Given the description of an element on the screen output the (x, y) to click on. 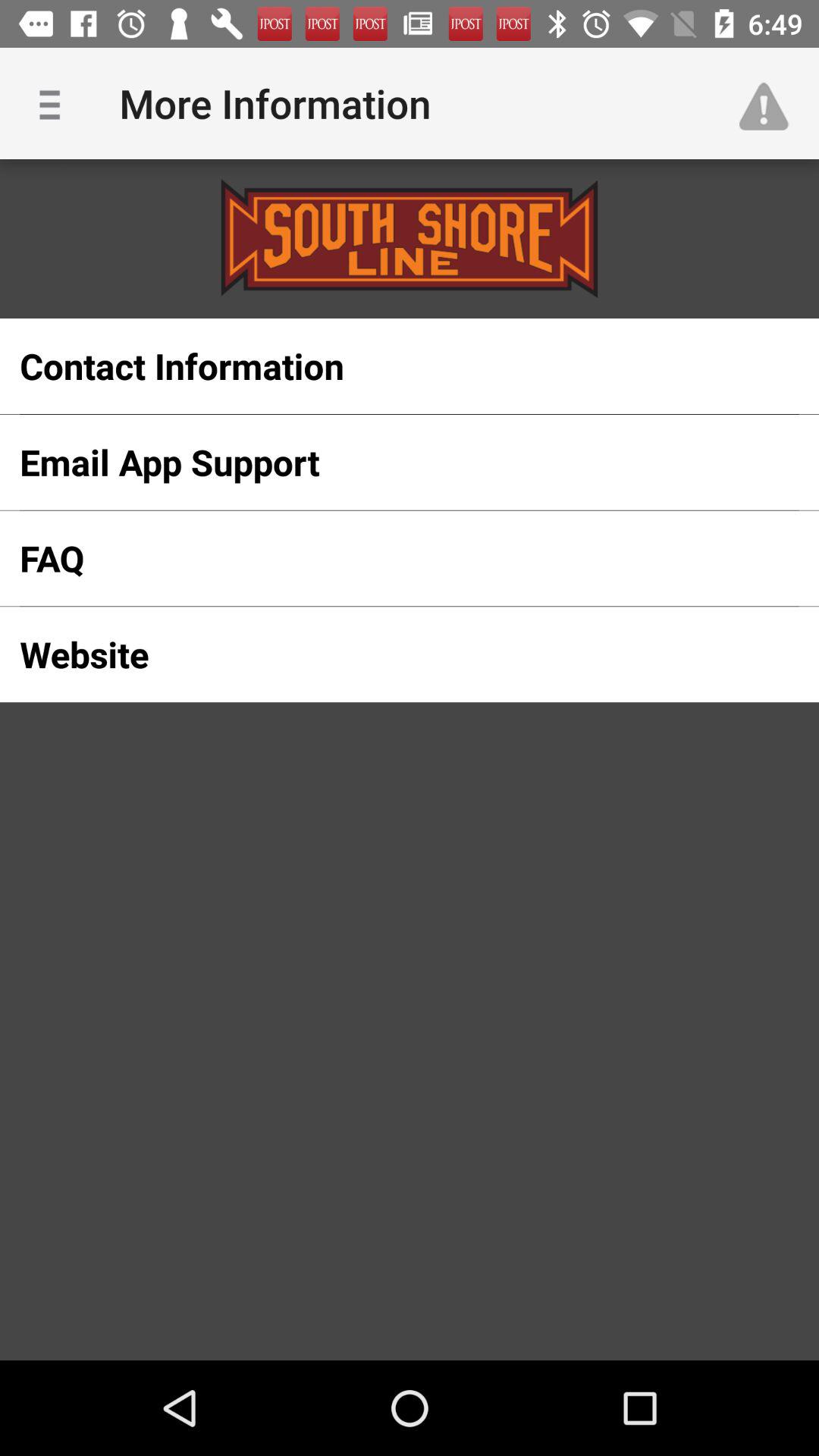
flip until website item (385, 654)
